Given the description of an element on the screen output the (x, y) to click on. 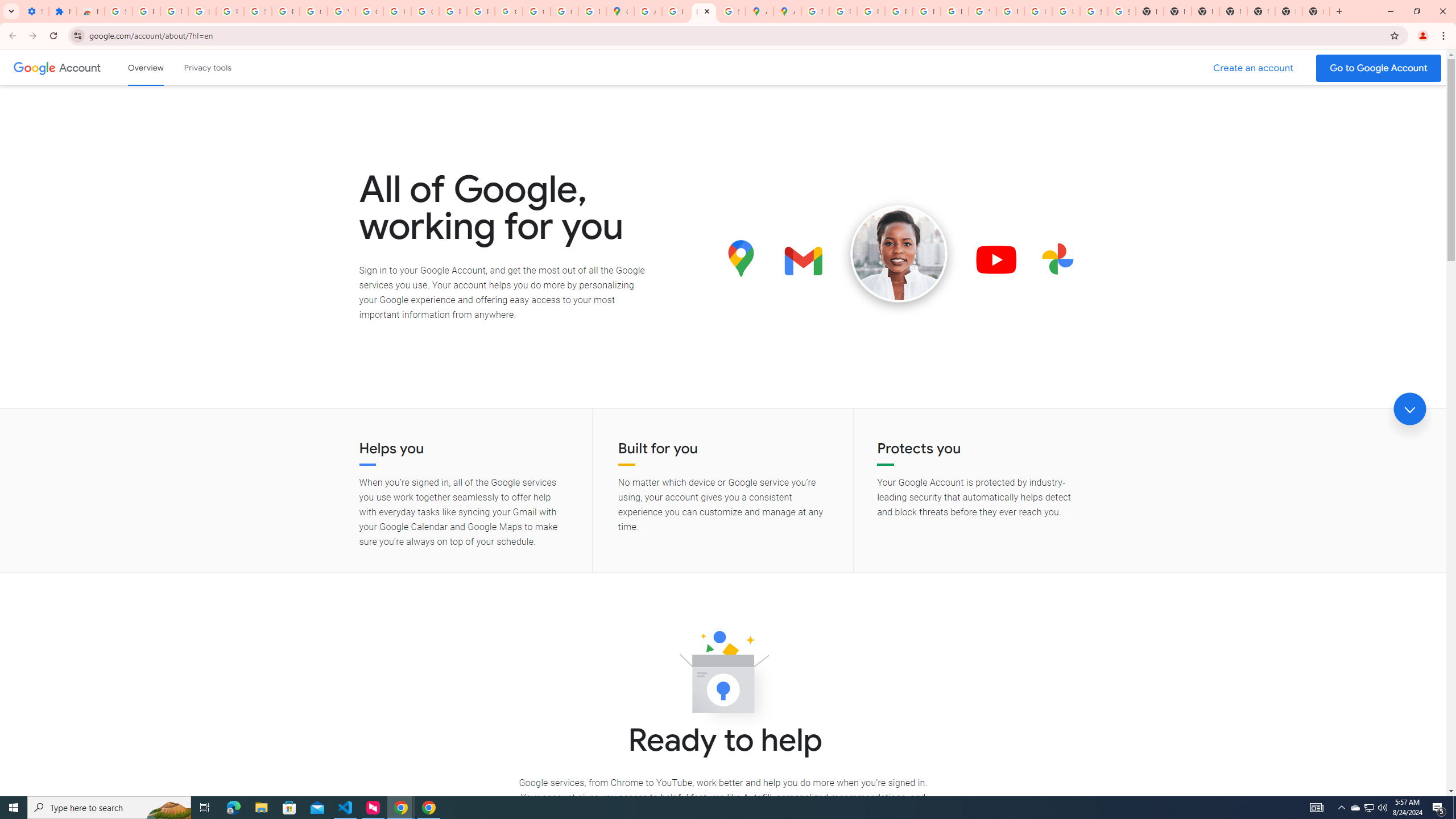
New Tab (1316, 11)
Google Account (80, 67)
Safety in Our Products - Google Safety Center (731, 11)
Skip to Content (162, 65)
Sign in - Google Accounts (118, 11)
Privacy tools (207, 67)
Create a Google Account (1253, 67)
Reviews: Helix Fruit Jump Arcade Game (90, 11)
